Given the description of an element on the screen output the (x, y) to click on. 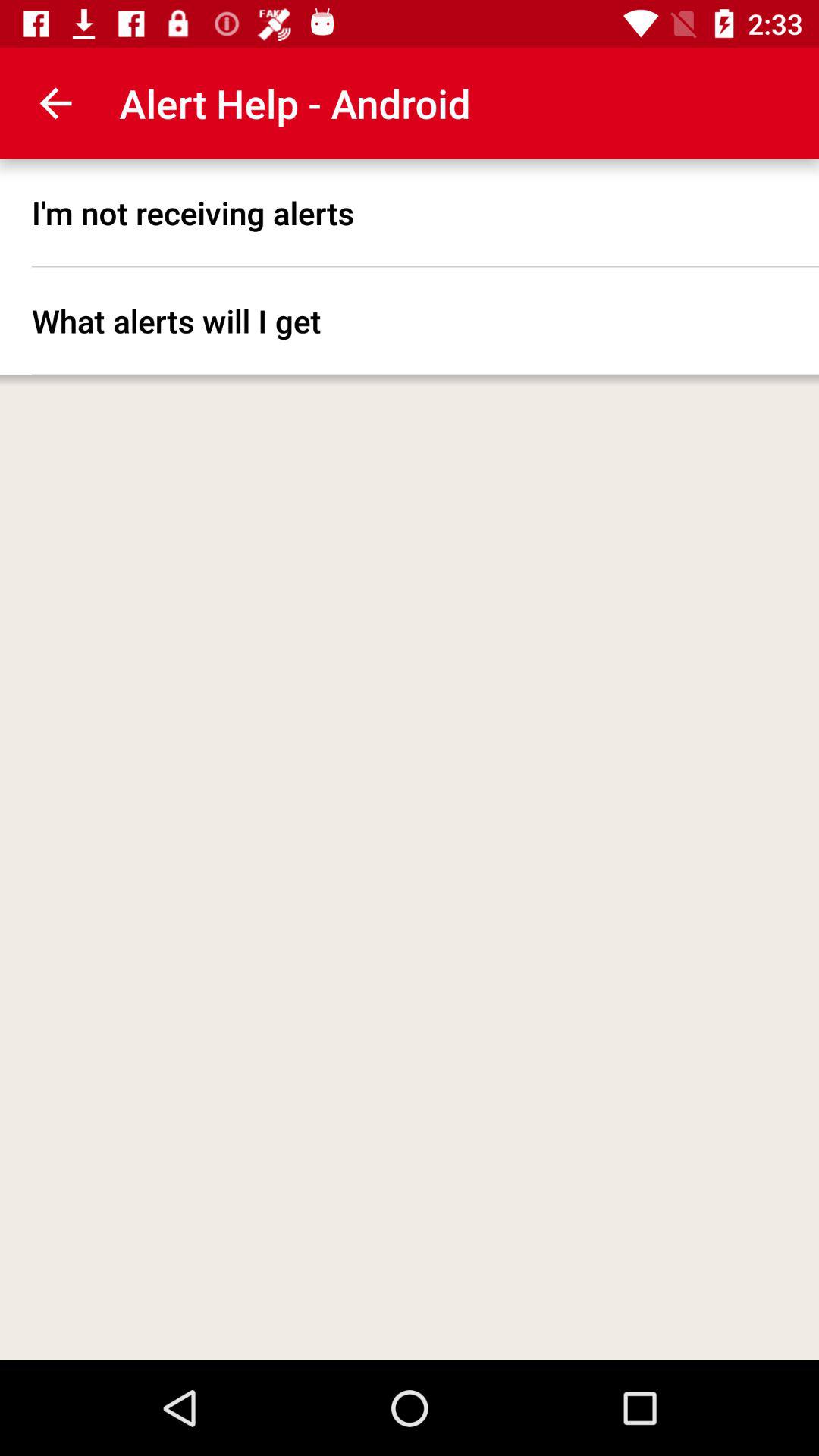
turn off icon next to alert help - android app (55, 103)
